Given the description of an element on the screen output the (x, y) to click on. 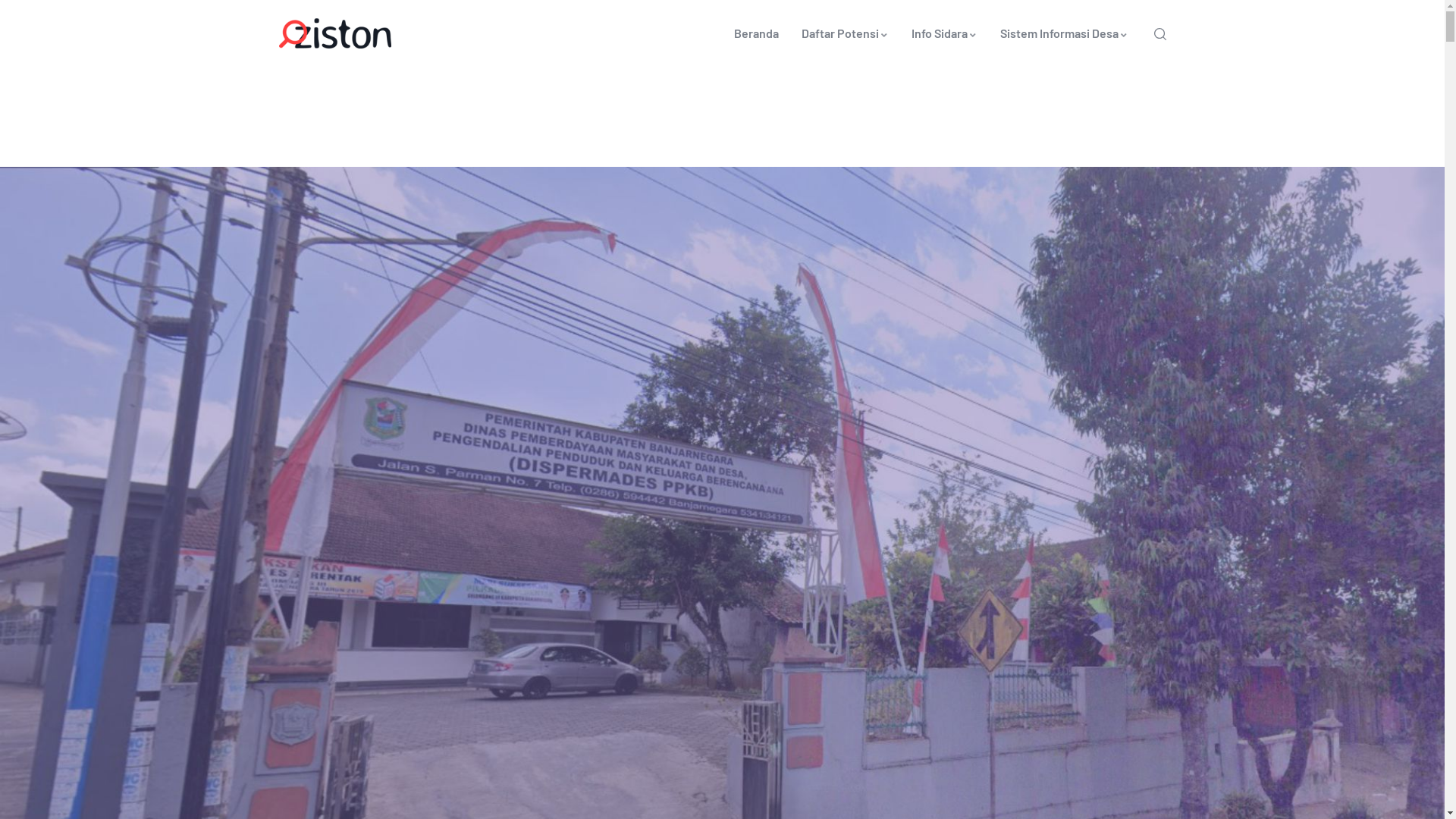
Beranda Element type: text (755, 33)
Daftar Potensi Element type: text (845, 33)
Info Sidara Element type: text (943, 33)
Sistem Informasi Desa Element type: text (1063, 33)
